Given the description of an element on the screen output the (x, y) to click on. 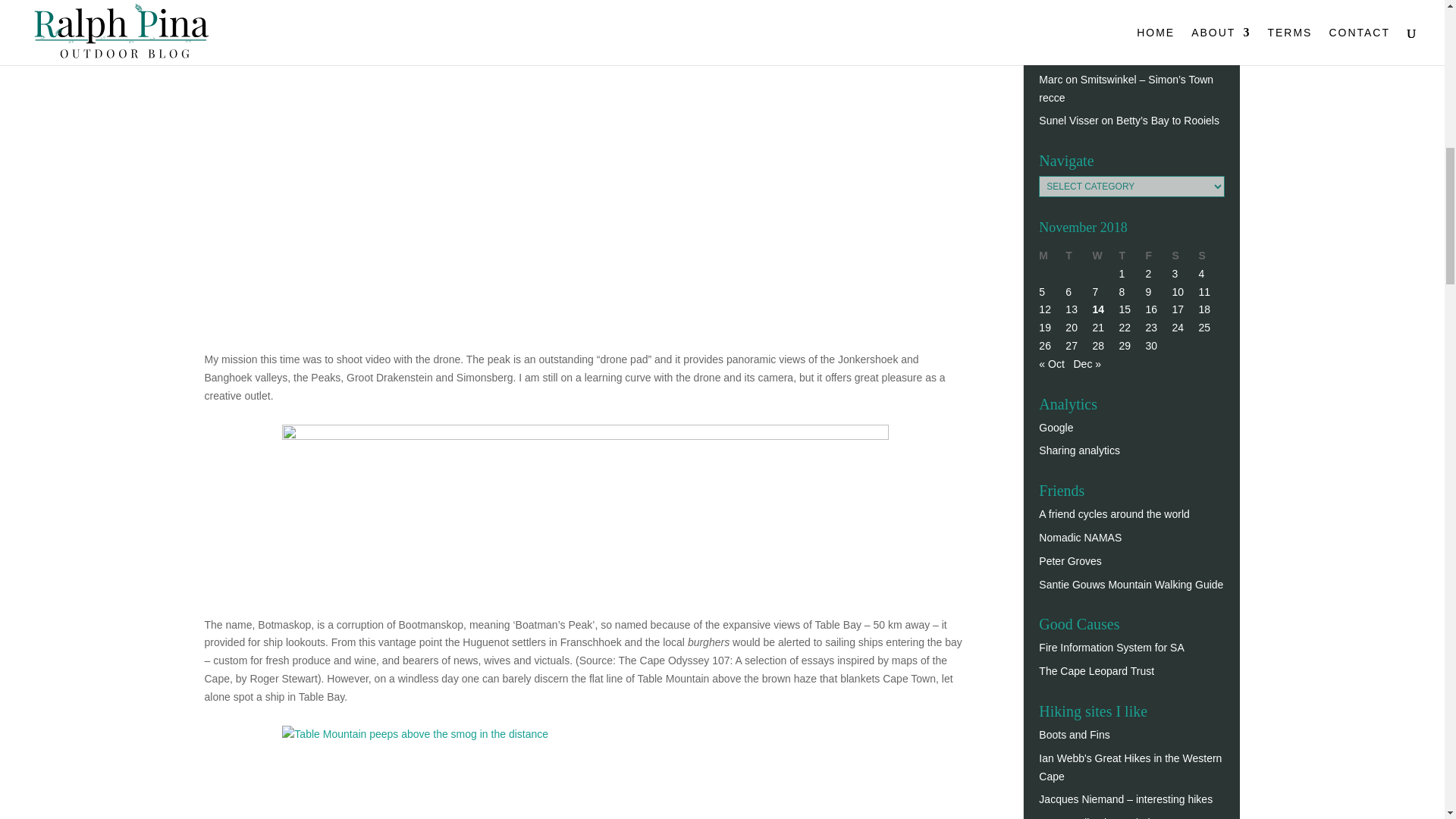
Sunday (1211, 256)
Friday (1158, 256)
Wednesday (1105, 256)
Monday (1052, 256)
Saturday (1185, 256)
Slackpack hikes and bicycle tours in Namaqualand (1080, 537)
Tuesday (1078, 256)
Thursday (1131, 256)
